Given the description of an element on the screen output the (x, y) to click on. 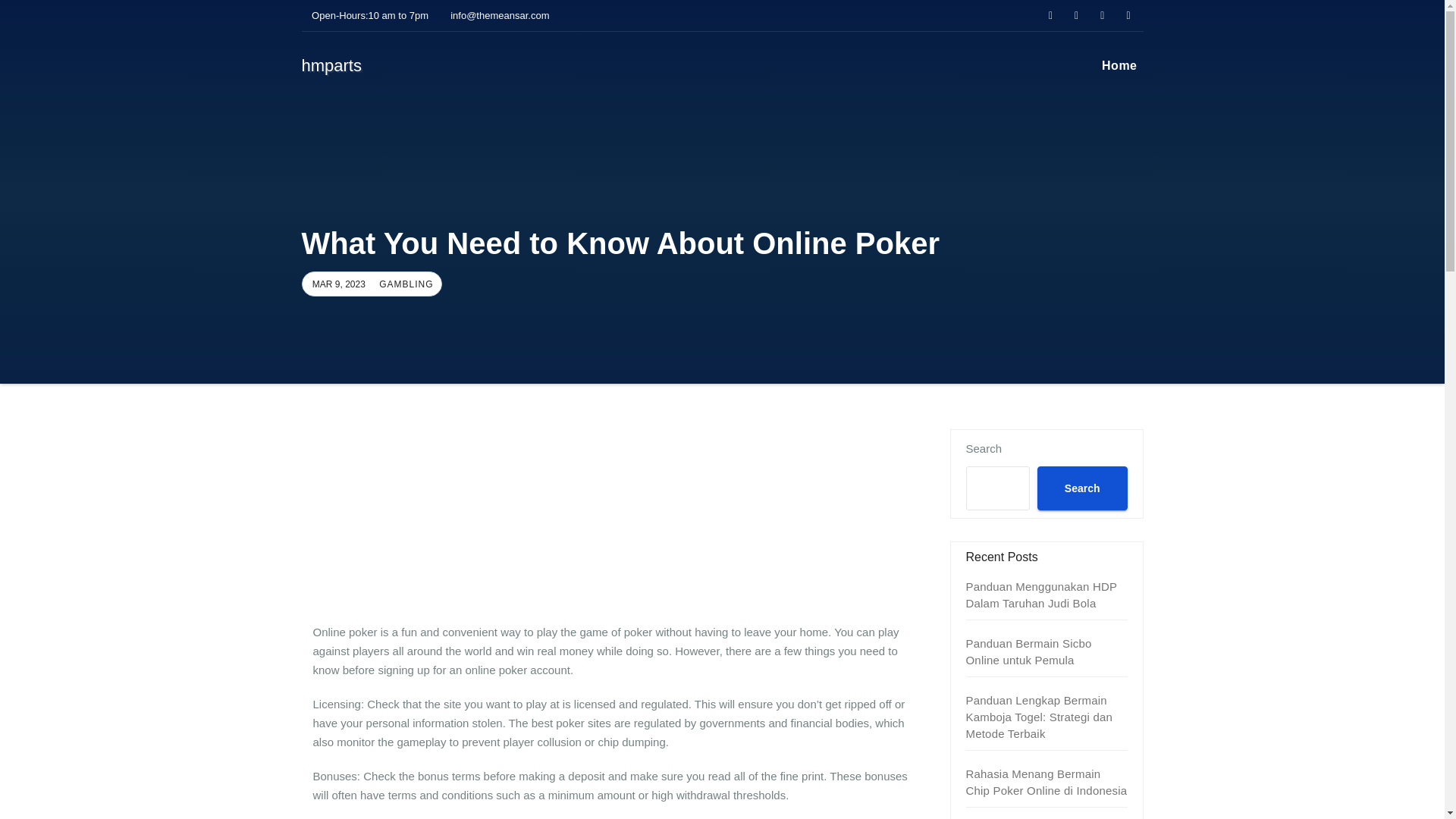
GAMBLING (403, 284)
Open-Hours:10 am to 7pm (365, 15)
Search (1081, 488)
Panduan Menggunakan HDP Dalam Taruhan Judi Bola (1041, 594)
hmparts (331, 65)
Panduan Bermain Sicbo Online untuk Pemula (1029, 651)
Rahasia Menang Bermain Chip Poker Online di Indonesia (1046, 781)
